Given the description of an element on the screen output the (x, y) to click on. 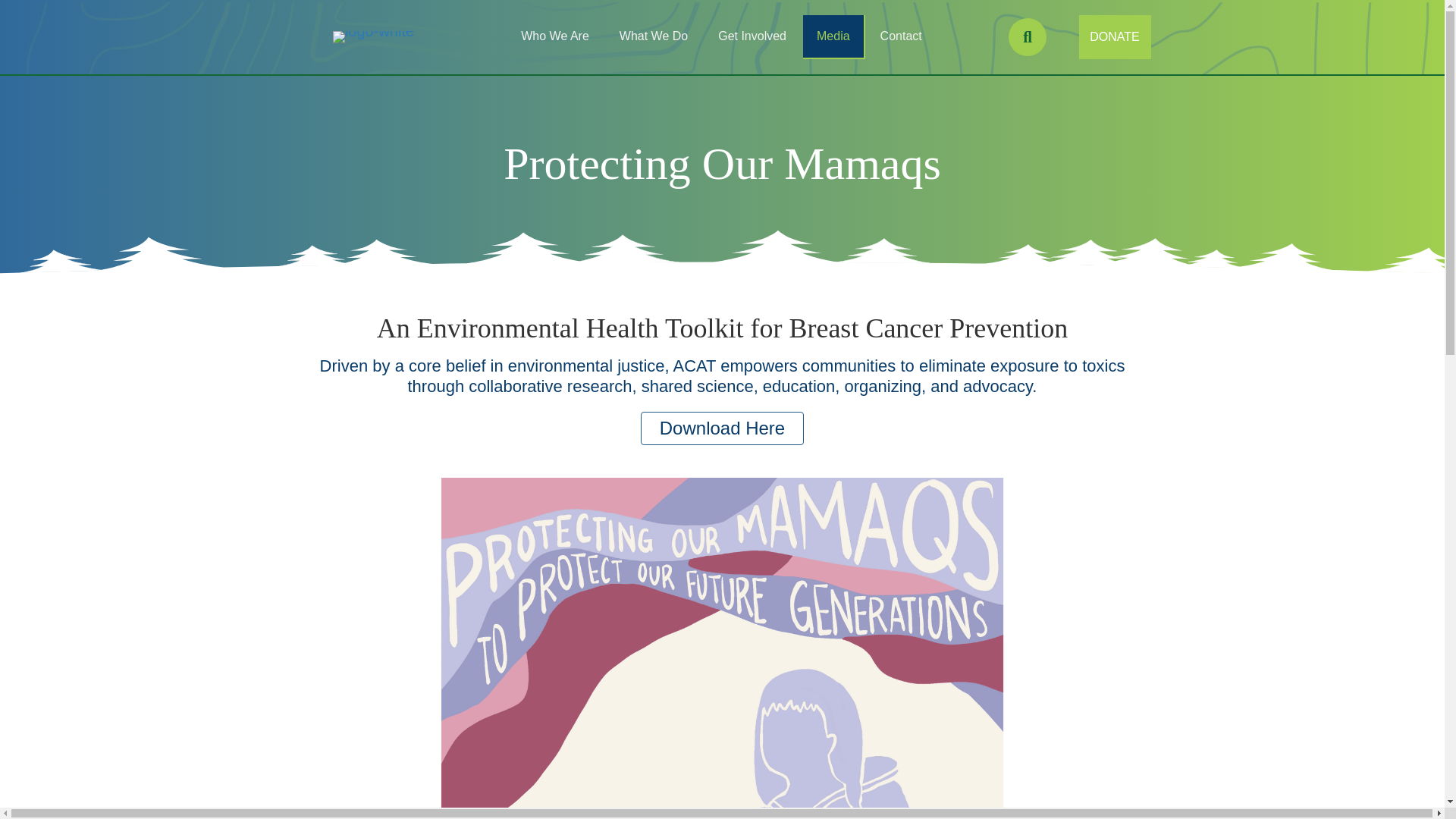
What We Do (654, 36)
Get Involved (753, 36)
Contact (901, 36)
logo-white (373, 37)
Media (833, 36)
Who We Are (555, 36)
